Given the description of an element on the screen output the (x, y) to click on. 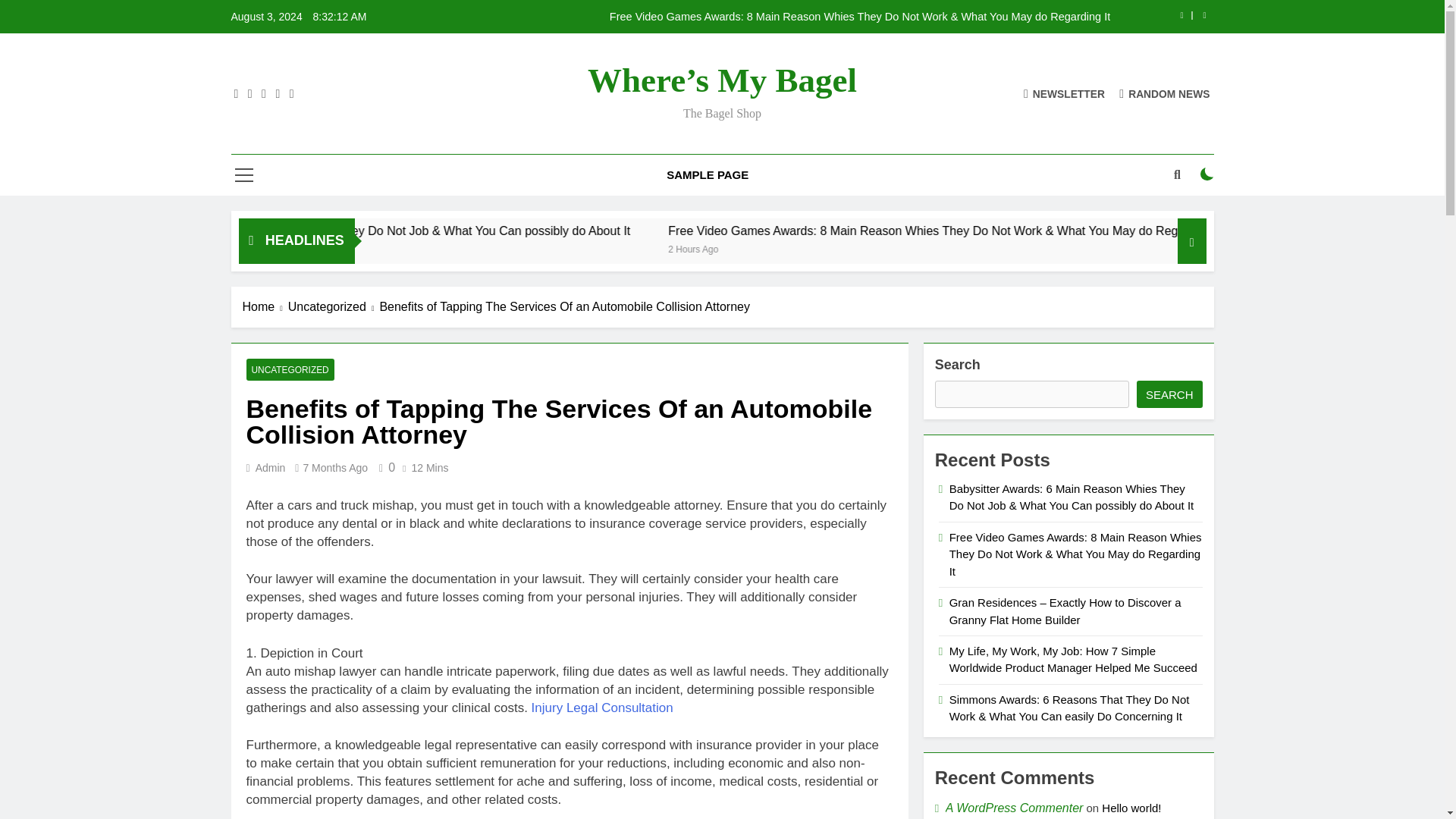
RANDOM NEWS (1164, 92)
2 Hours Ago (907, 247)
on (1206, 173)
18 Mins Ago (353, 247)
SAMPLE PAGE (707, 174)
NEWSLETTER (1064, 92)
